Given the description of an element on the screen output the (x, y) to click on. 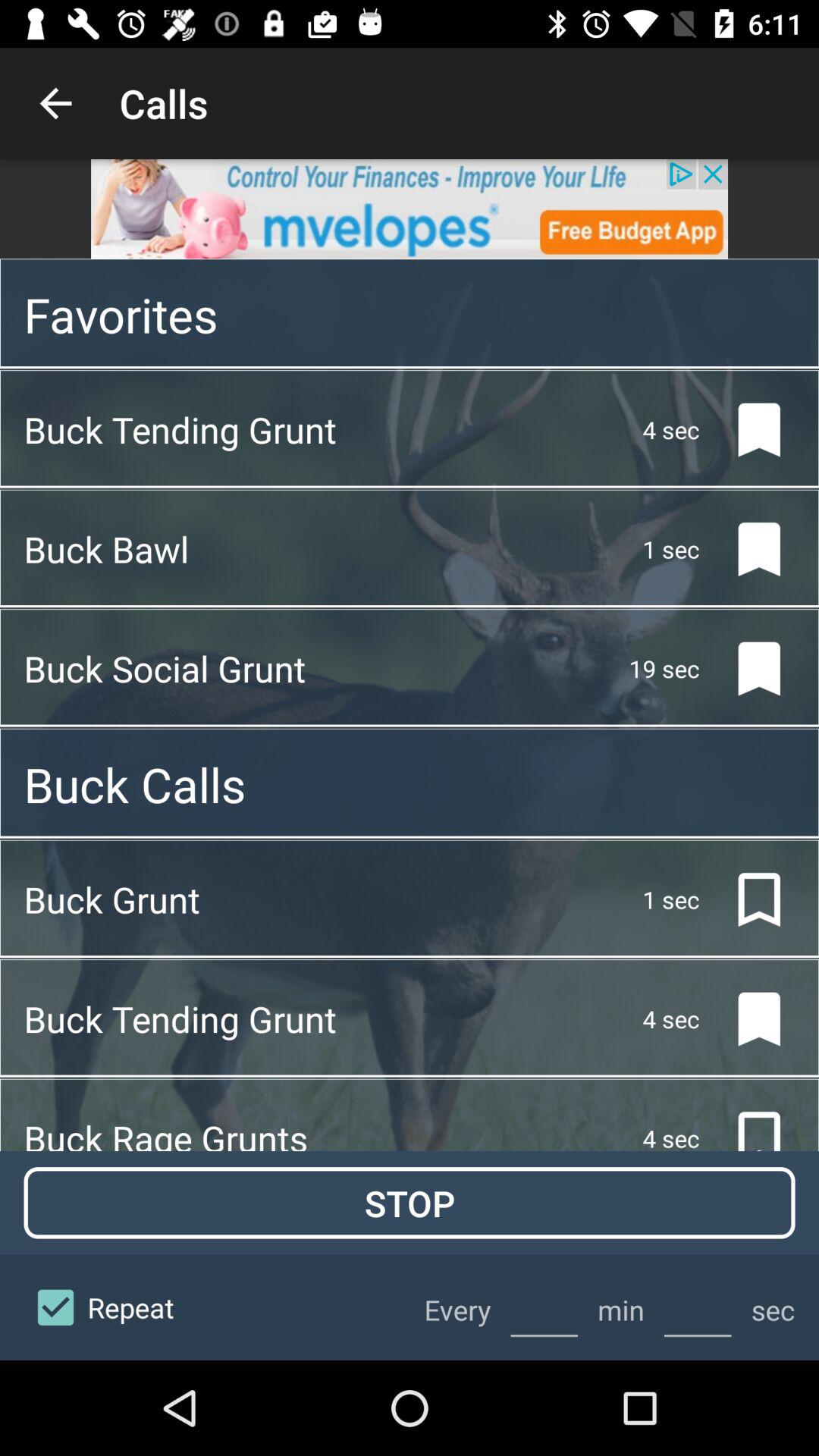
box to enter sec (697, 1307)
